Given the description of an element on the screen output the (x, y) to click on. 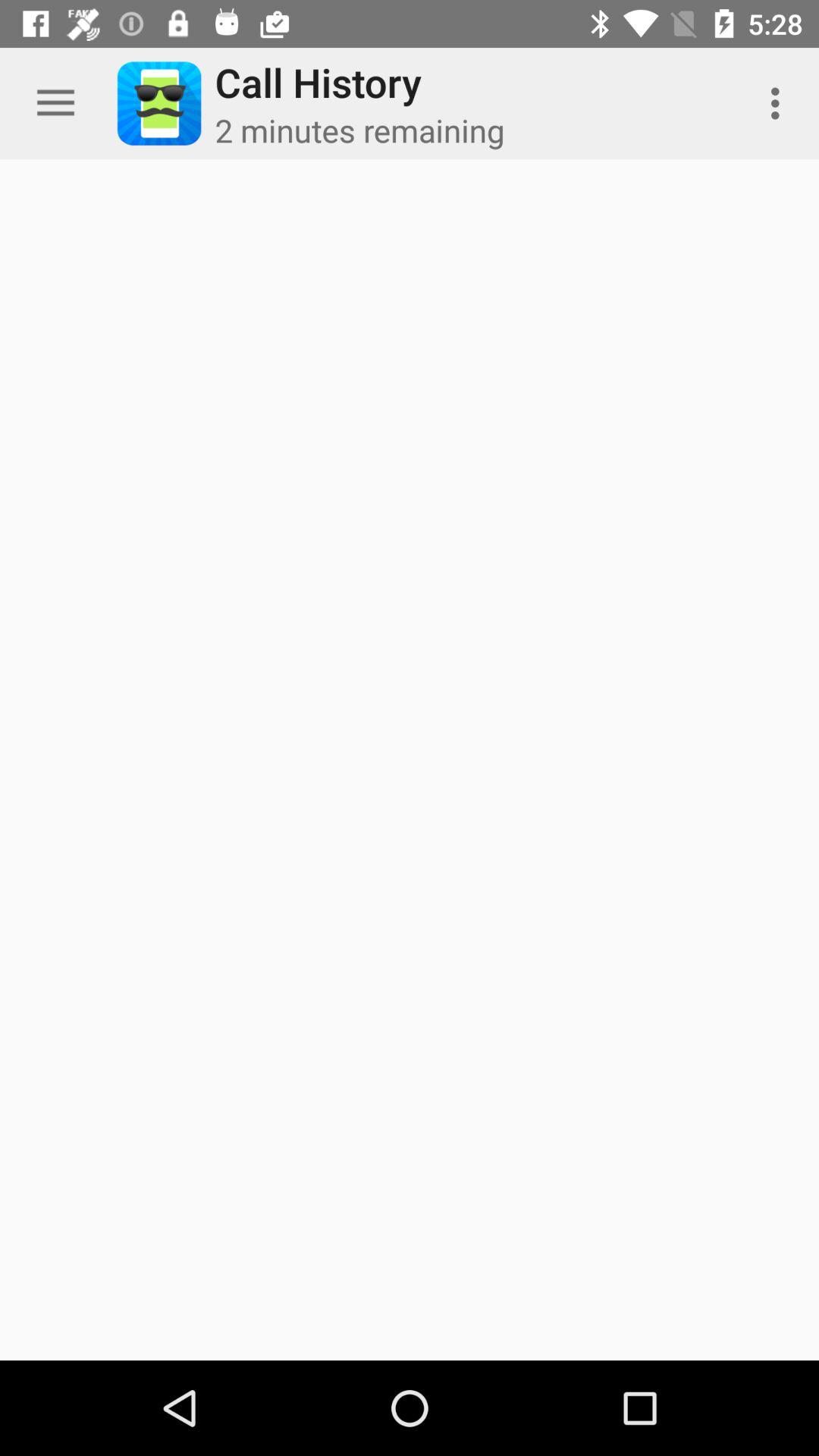
choose the item next to 2 minutes remaining (779, 103)
